Given the description of an element on the screen output the (x, y) to click on. 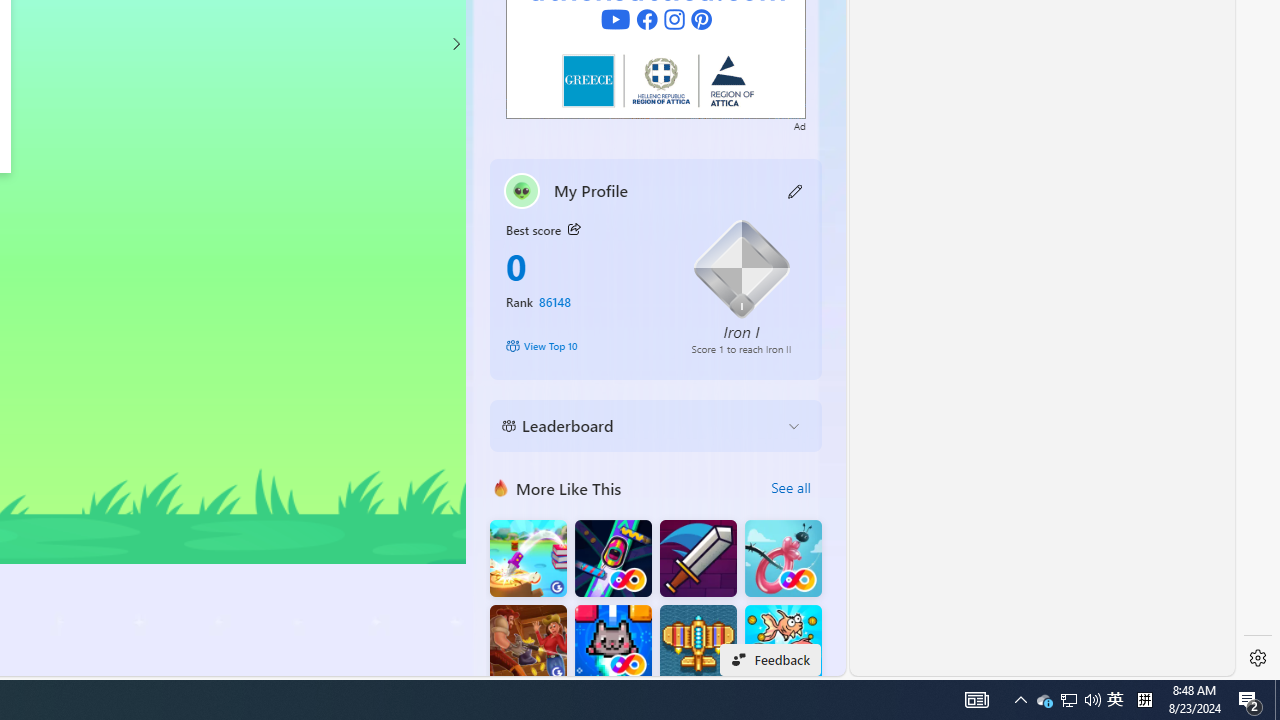
""'s avatar (522, 190)
Knife Flip (528, 558)
Saloon Robbery (528, 643)
Kitten Force FRVR (612, 643)
View Top 10 (584, 345)
See all (790, 487)
Class: control (455, 43)
Bumper Car FRVR (612, 558)
Fish Merge FRVR (783, 643)
Class: button edit-icon (795, 190)
Atlantic Sky Hunter (698, 643)
Leaderboard (639, 425)
